Given the description of an element on the screen output the (x, y) to click on. 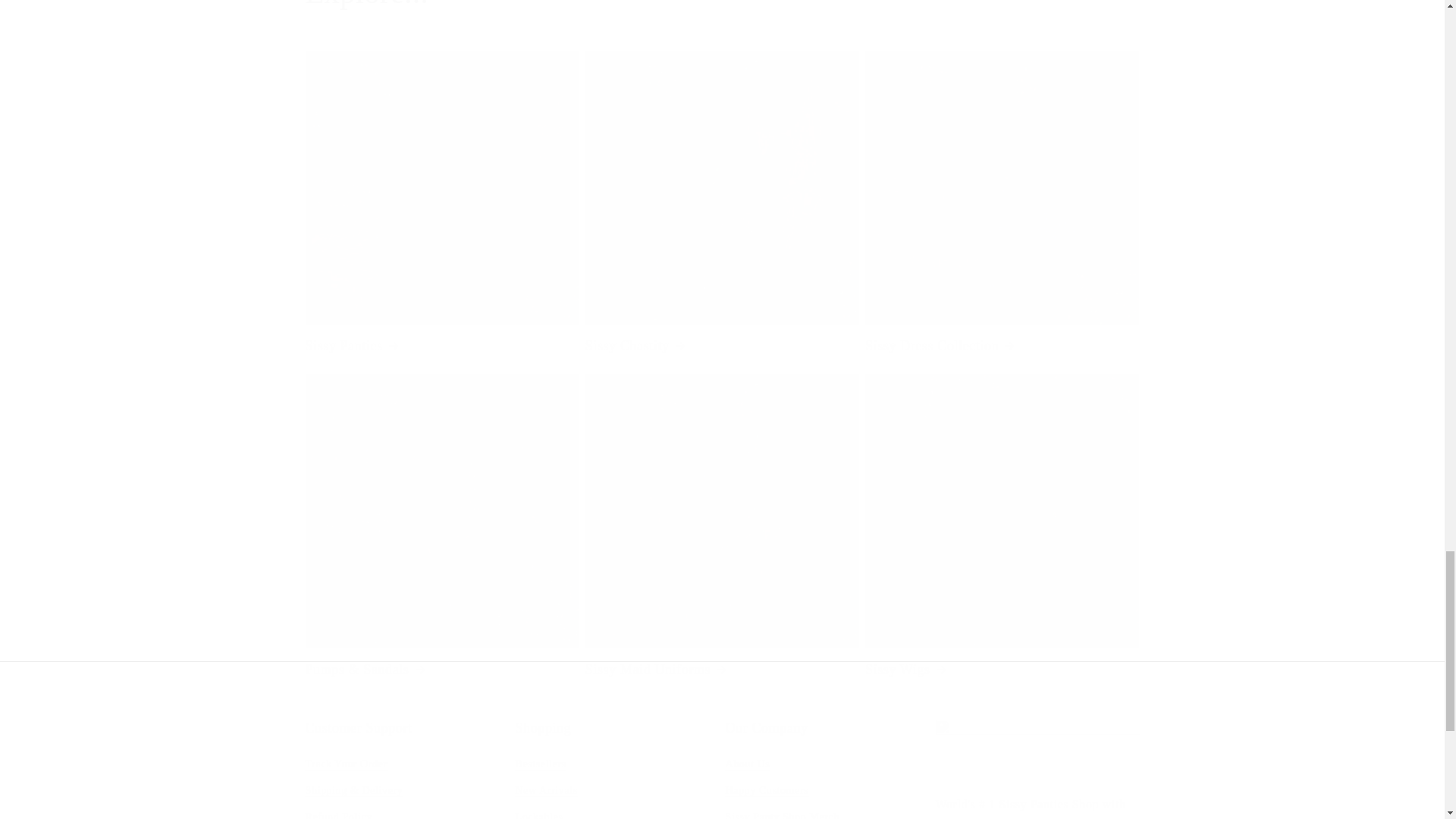
Explore... (366, 6)
